Given the description of an element on the screen output the (x, y) to click on. 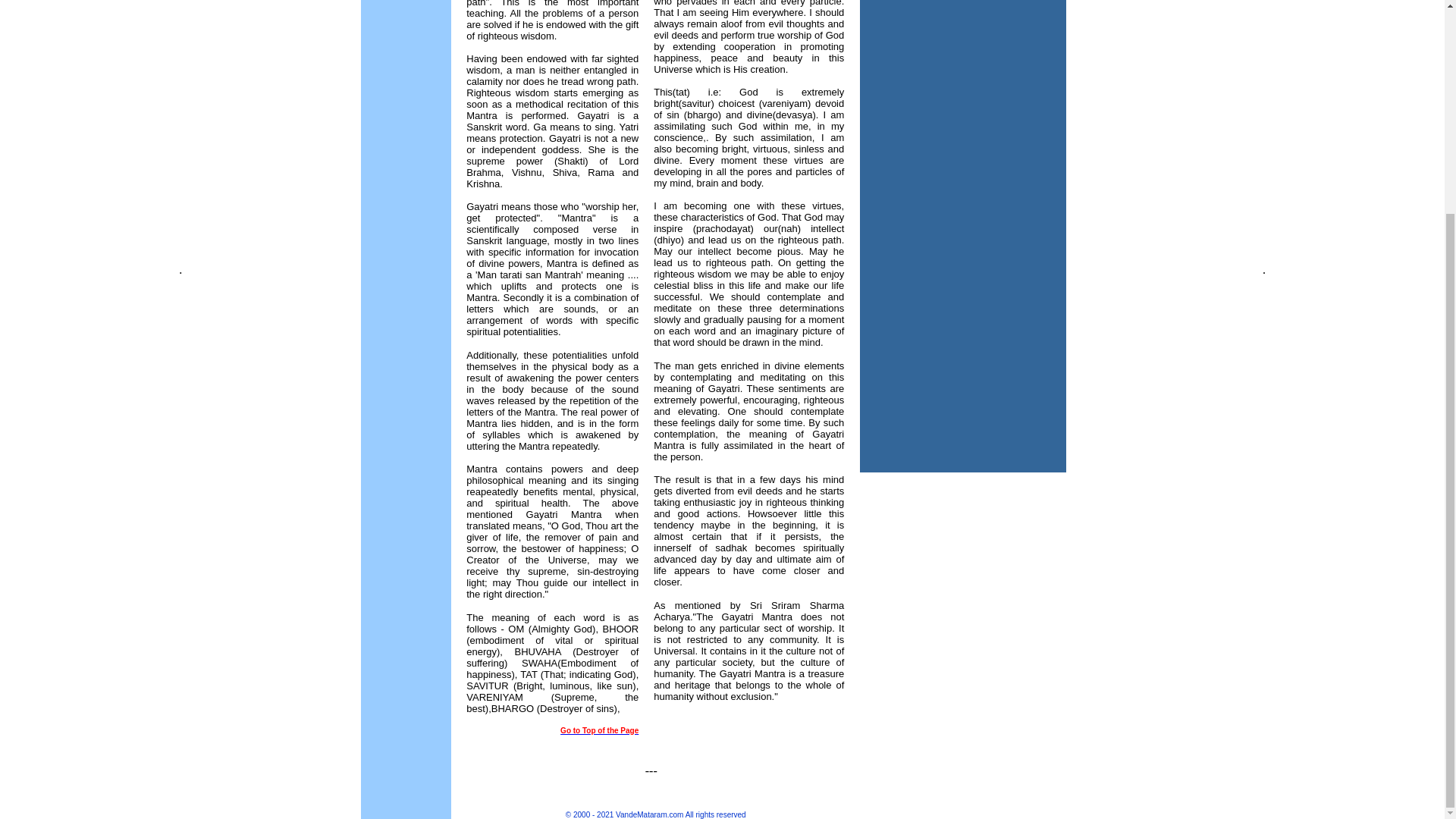
Go to Top of the Page (599, 729)
